Given the description of an element on the screen output the (x, y) to click on. 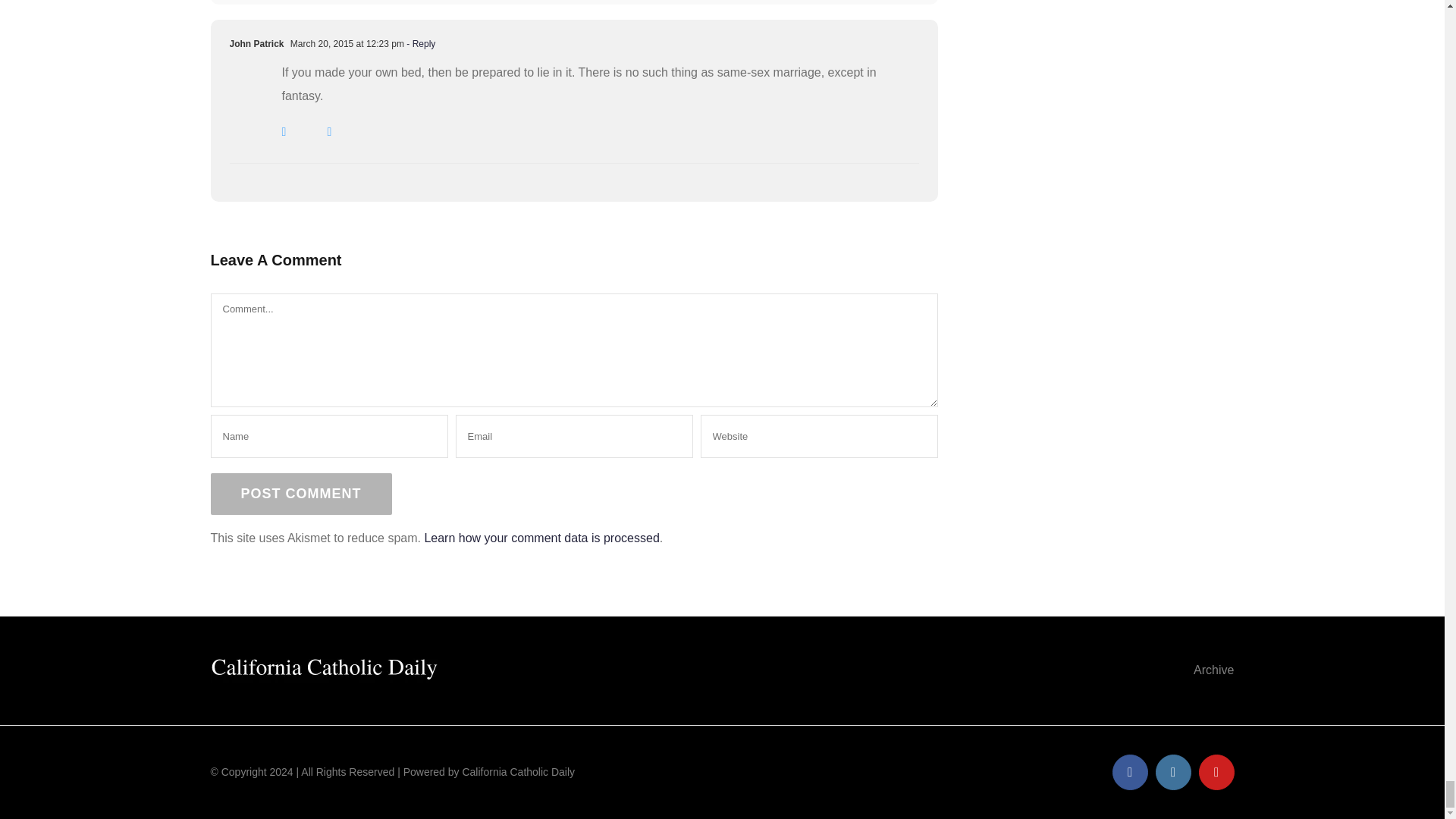
Post Comment (301, 494)
